Given the description of an element on the screen output the (x, y) to click on. 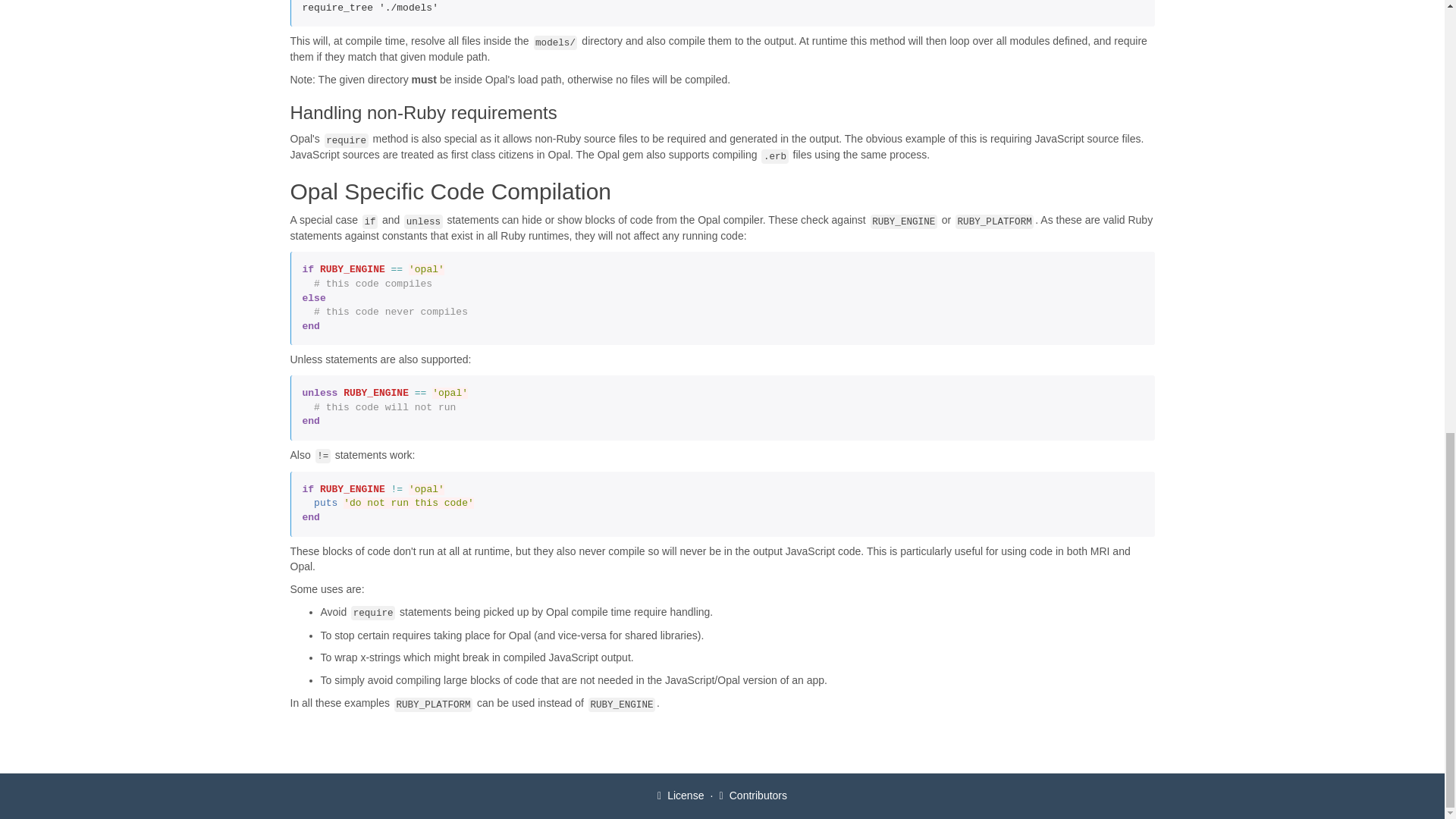
Contributors (753, 795)
License (680, 795)
